Given the description of an element on the screen output the (x, y) to click on. 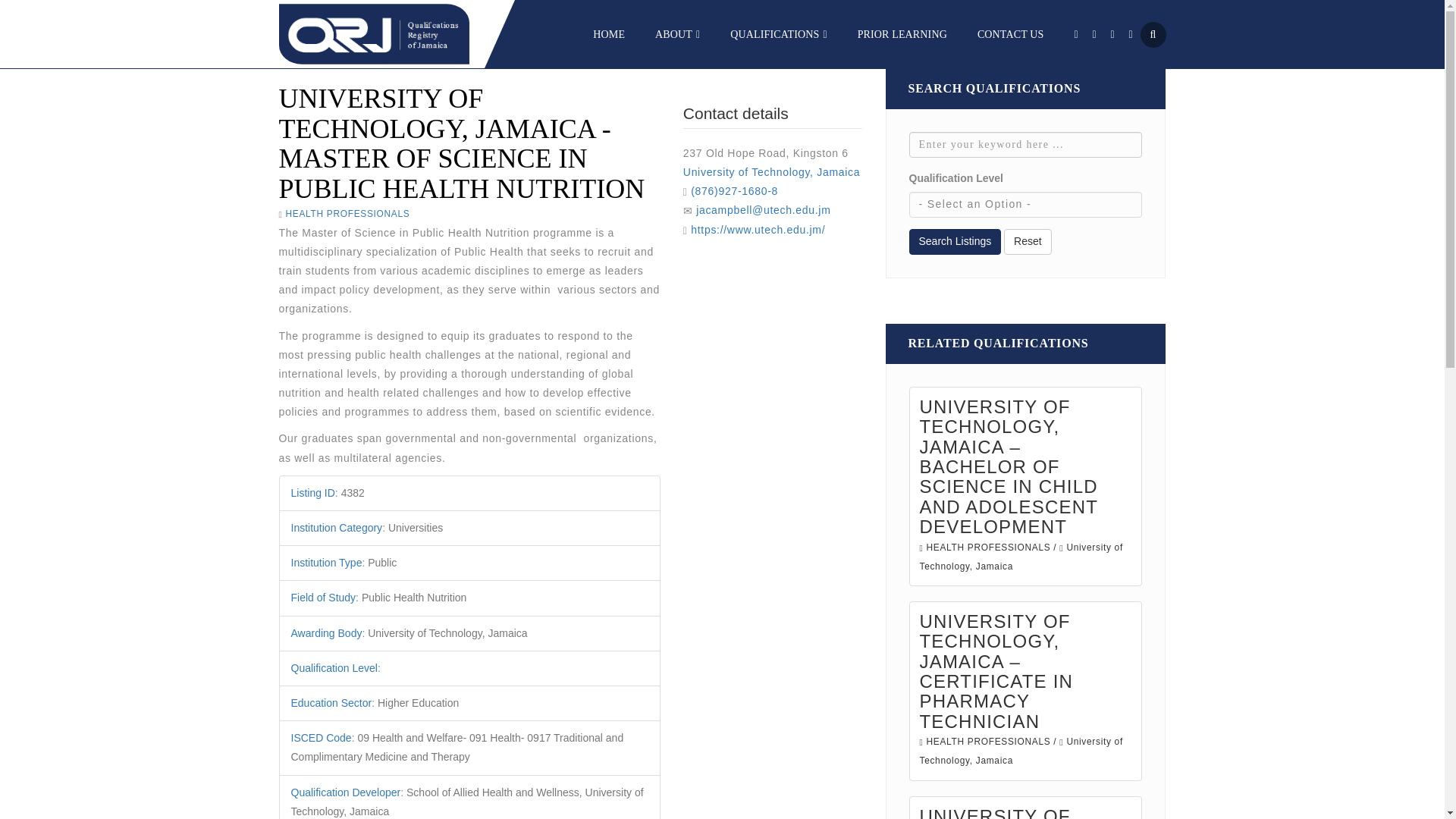
ABOUT (677, 34)
PRIOR LEARNING (902, 34)
HOME (608, 34)
CONTACT US (1009, 34)
QUALIFICATIONS (778, 34)
